Given the description of an element on the screen output the (x, y) to click on. 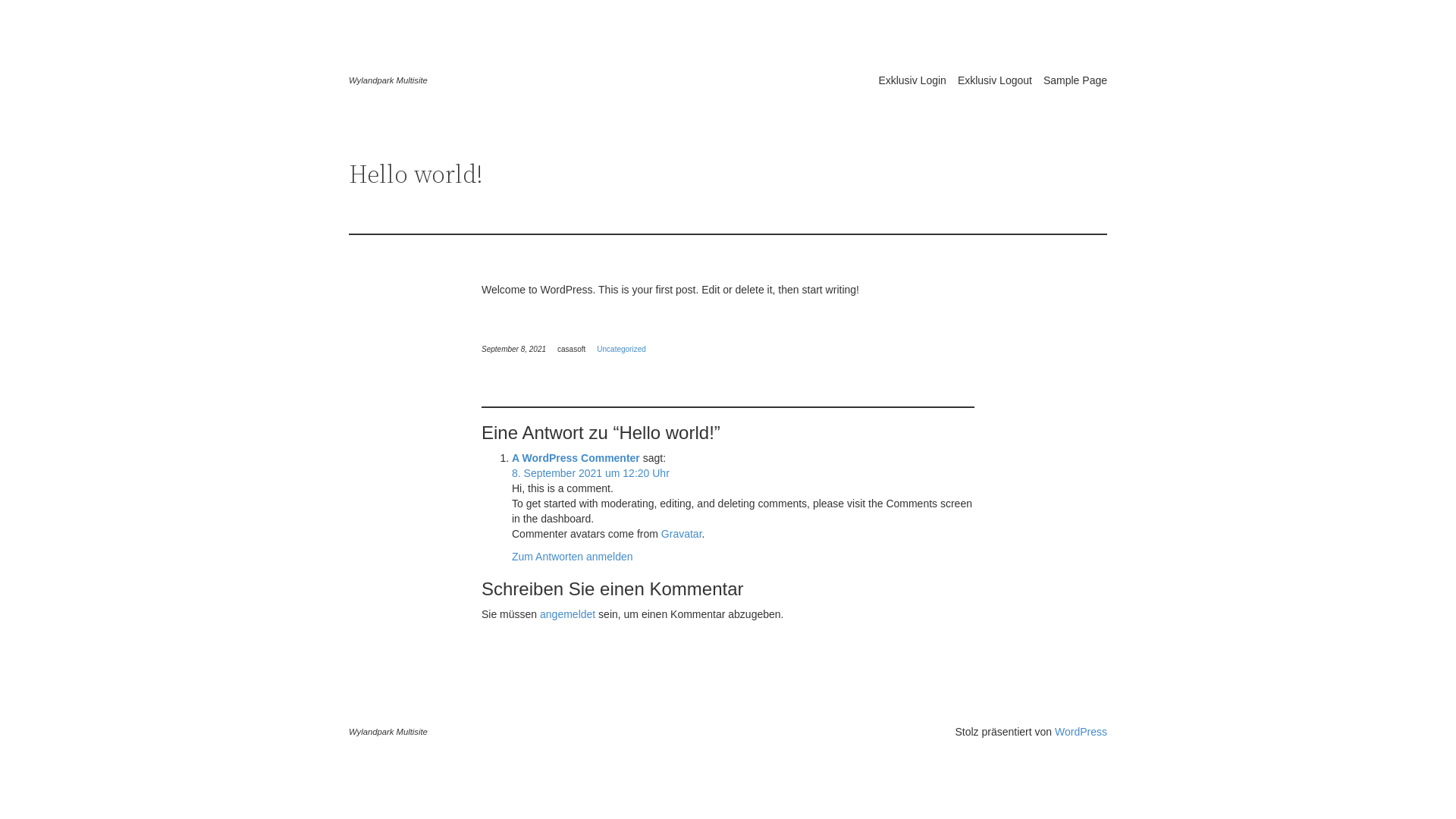
Gravatar Element type: text (681, 533)
Zum Antworten anmelden Element type: text (572, 556)
Wylandpark Multisite Element type: text (387, 79)
Uncategorized Element type: text (620, 349)
Exklusiv Login Element type: text (912, 79)
Sample Page Element type: text (1075, 79)
angemeldet Element type: text (567, 614)
Wylandpark Multisite Element type: text (387, 731)
8. September 2021 um 12:20 Uhr Element type: text (590, 473)
A WordPress Commenter Element type: text (575, 457)
Exklusiv Logout Element type: text (994, 79)
WordPress Element type: text (1080, 731)
